Given the description of an element on the screen output the (x, y) to click on. 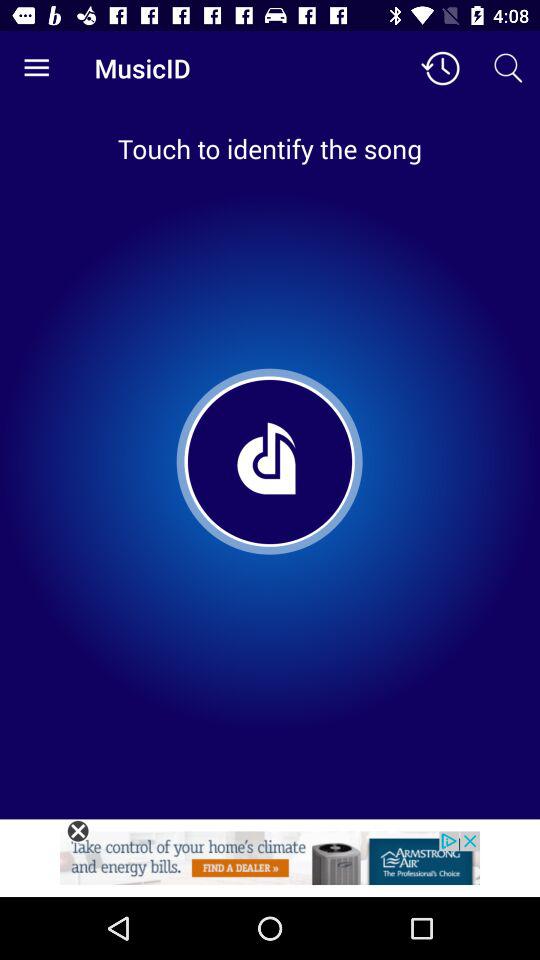
select advertisement (270, 864)
